Given the description of an element on the screen output the (x, y) to click on. 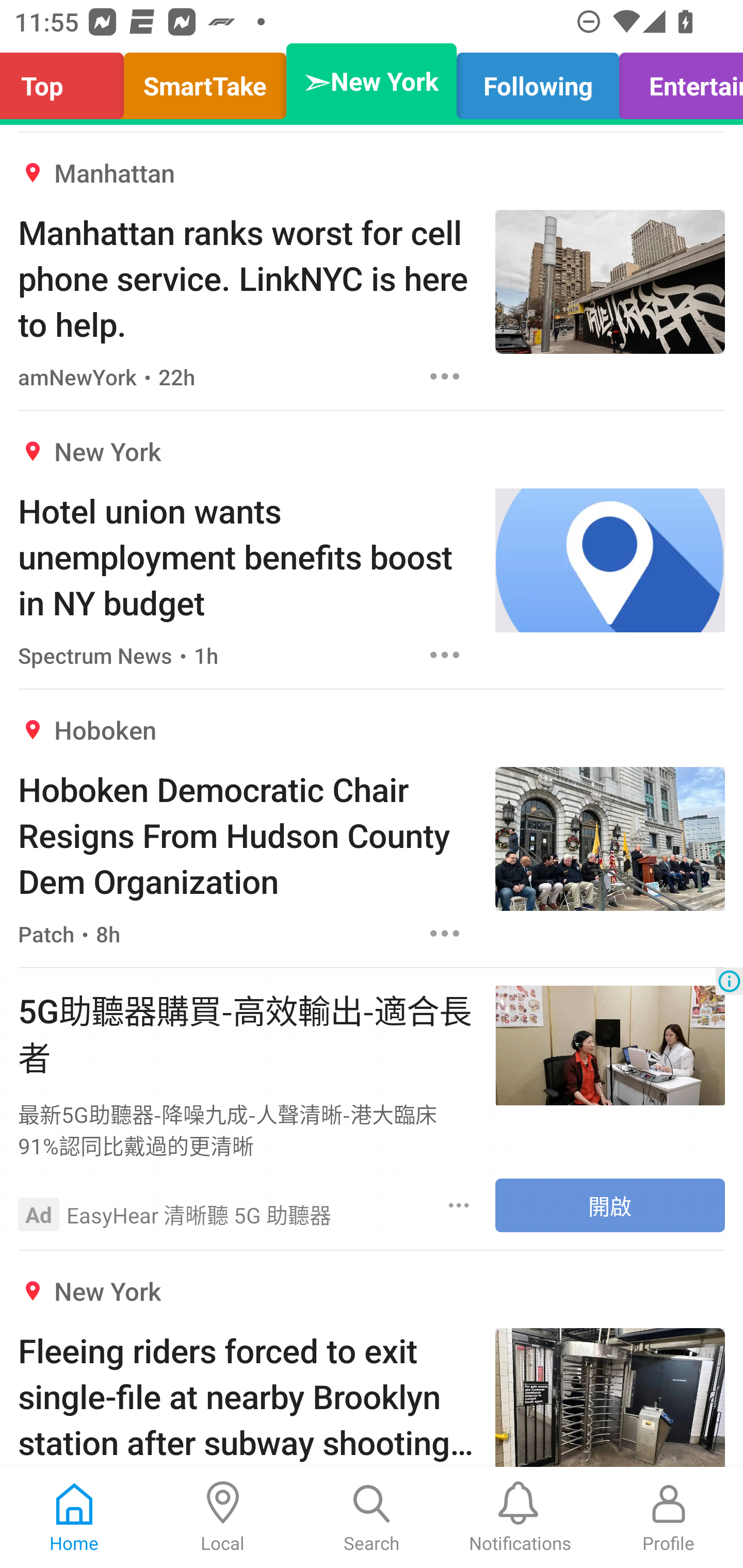
Top (67, 81)
SmartTake (204, 81)
➣New York (371, 81)
Following (537, 81)
Options (444, 376)
Options (444, 655)
Options (444, 933)
Ad Choices Icon (729, 981)
5G助聽器購買-高效輸出-適合長者 (247, 1032)
最新5G助聽器-降噪九成-人聲清晰-港大臨床91%認同比戴過的更清晰 (247, 1128)
開啟 (610, 1205)
Options (459, 1204)
EasyHear 清晰聽 5G 助聽器 (198, 1213)
Local (222, 1517)
Search (371, 1517)
Notifications (519, 1517)
Profile (668, 1517)
